Given the description of an element on the screen output the (x, y) to click on. 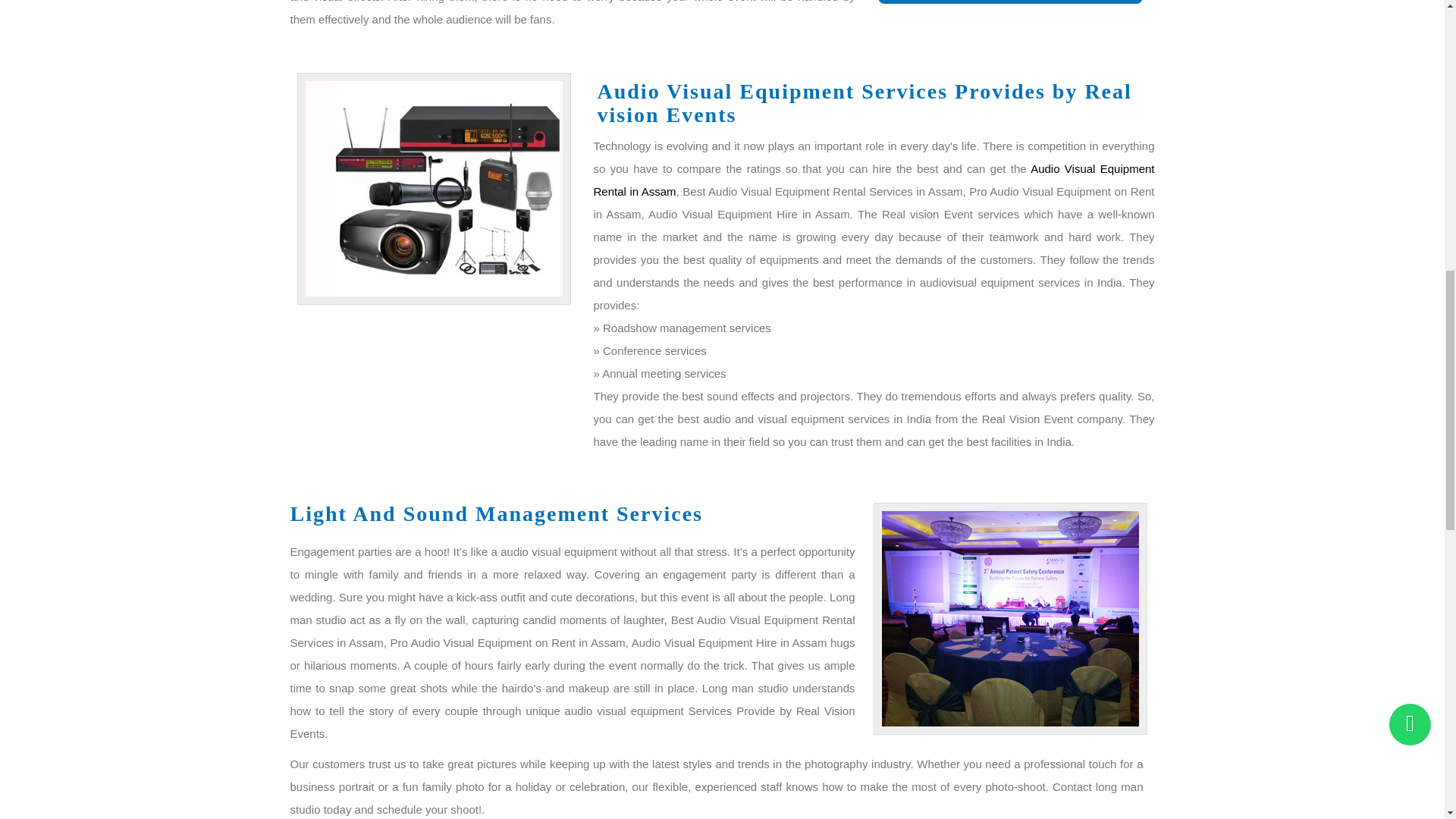
Audio Visual Equipment Rental in Assam (873, 180)
